Given the description of an element on the screen output the (x, y) to click on. 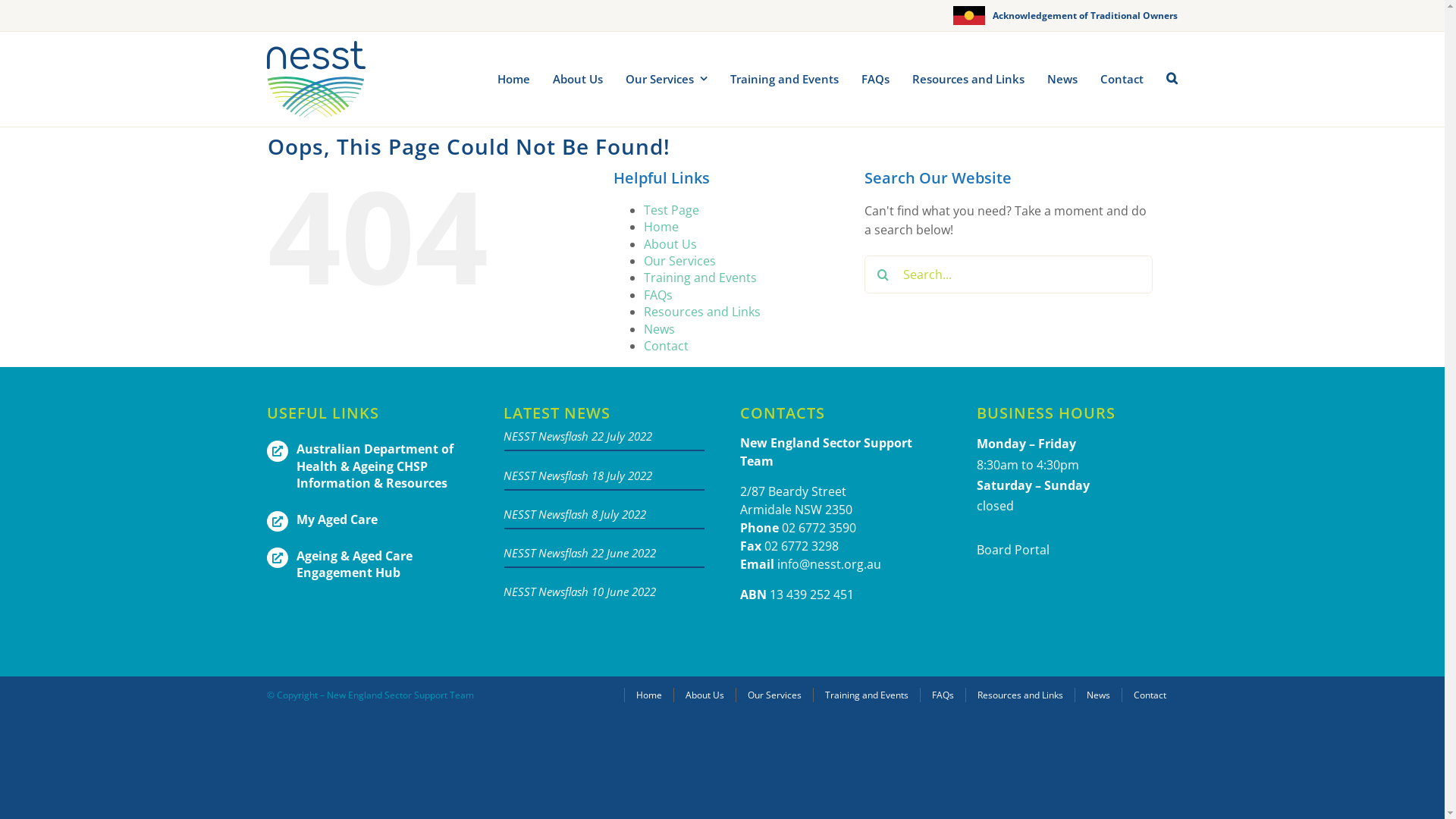
Home Element type: text (648, 694)
Ageing & Aged Care Engagement Hub Element type: text (354, 563)
NESST Newsflash 8 July 2022 Element type: text (574, 513)
About Us Element type: text (577, 78)
NESST Newsflash 22 June 2022 Element type: text (579, 552)
Training and Events Element type: text (865, 694)
Contact Element type: text (1121, 78)
Our Services Element type: text (773, 694)
Contact Element type: text (665, 345)
About Us Element type: text (669, 243)
Home Element type: text (513, 78)
Search Element type: hover (1171, 78)
FAQs Element type: text (875, 78)
Board Portal Element type: text (1012, 549)
Home Element type: text (660, 226)
Training and Events Element type: text (784, 78)
News Element type: text (1062, 78)
FAQs Element type: text (942, 694)
Resources and Links Element type: text (968, 78)
NESST Newsflash 10 June 2022 Element type: text (579, 591)
My Aged Care Element type: text (336, 519)
NESST Newsflash 22 July 2022 Element type: text (577, 435)
News Element type: text (1097, 694)
News Element type: text (658, 328)
FAQs Element type: text (657, 294)
Resources and Links Element type: text (1019, 694)
Our Services Element type: text (666, 78)
About Us Element type: text (704, 694)
Acknowledgement of Traditional Owners Element type: text (1084, 15)
Test Page Element type: text (671, 209)
Our Services Element type: text (679, 260)
Resources and Links Element type: text (701, 311)
Contact Element type: text (1149, 694)
Training and Events Element type: text (699, 277)
NESST Newsflash 18 July 2022 Element type: text (577, 474)
